Given the description of an element on the screen output the (x, y) to click on. 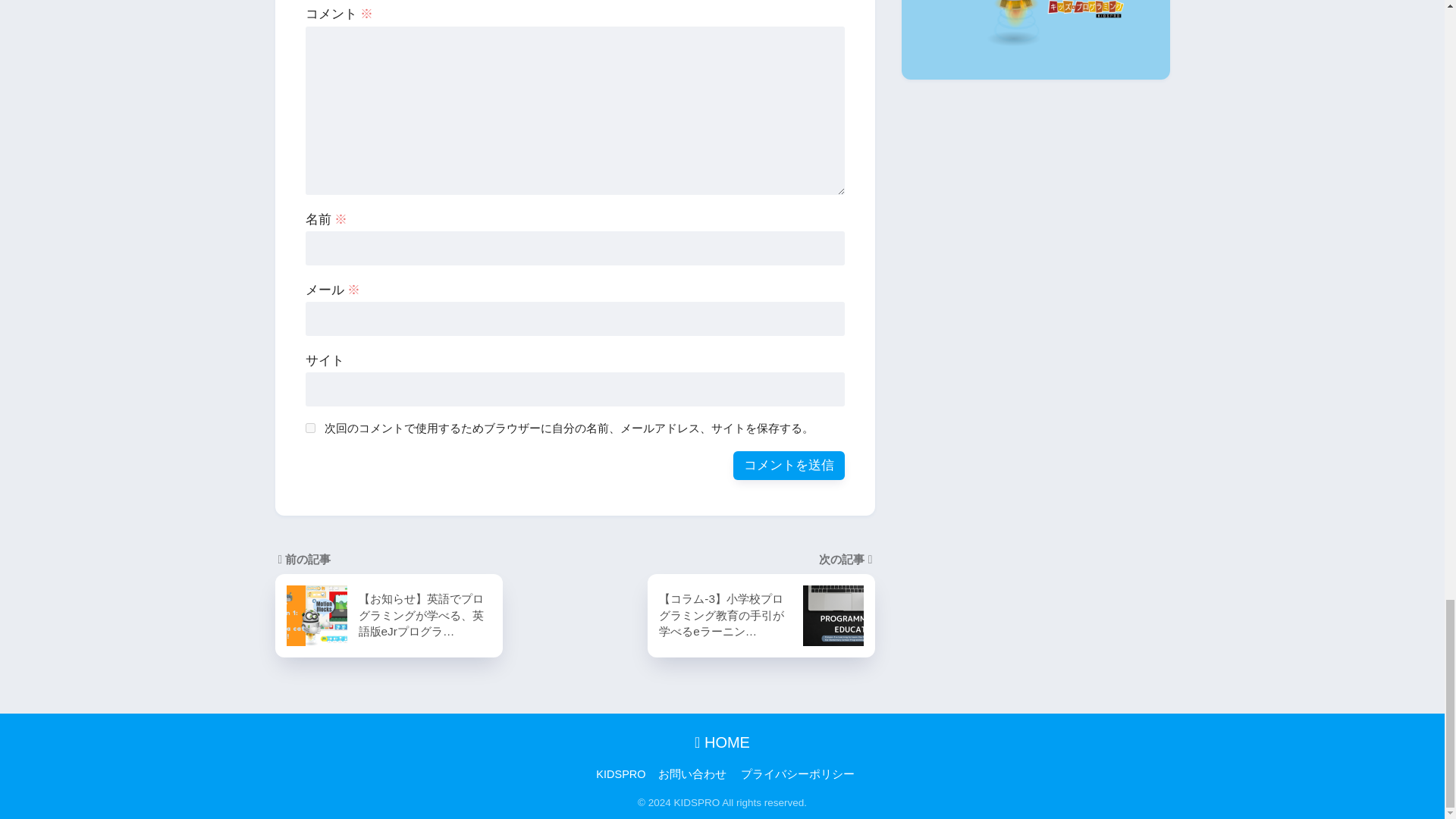
yes (309, 428)
